Given the description of an element on the screen output the (x, y) to click on. 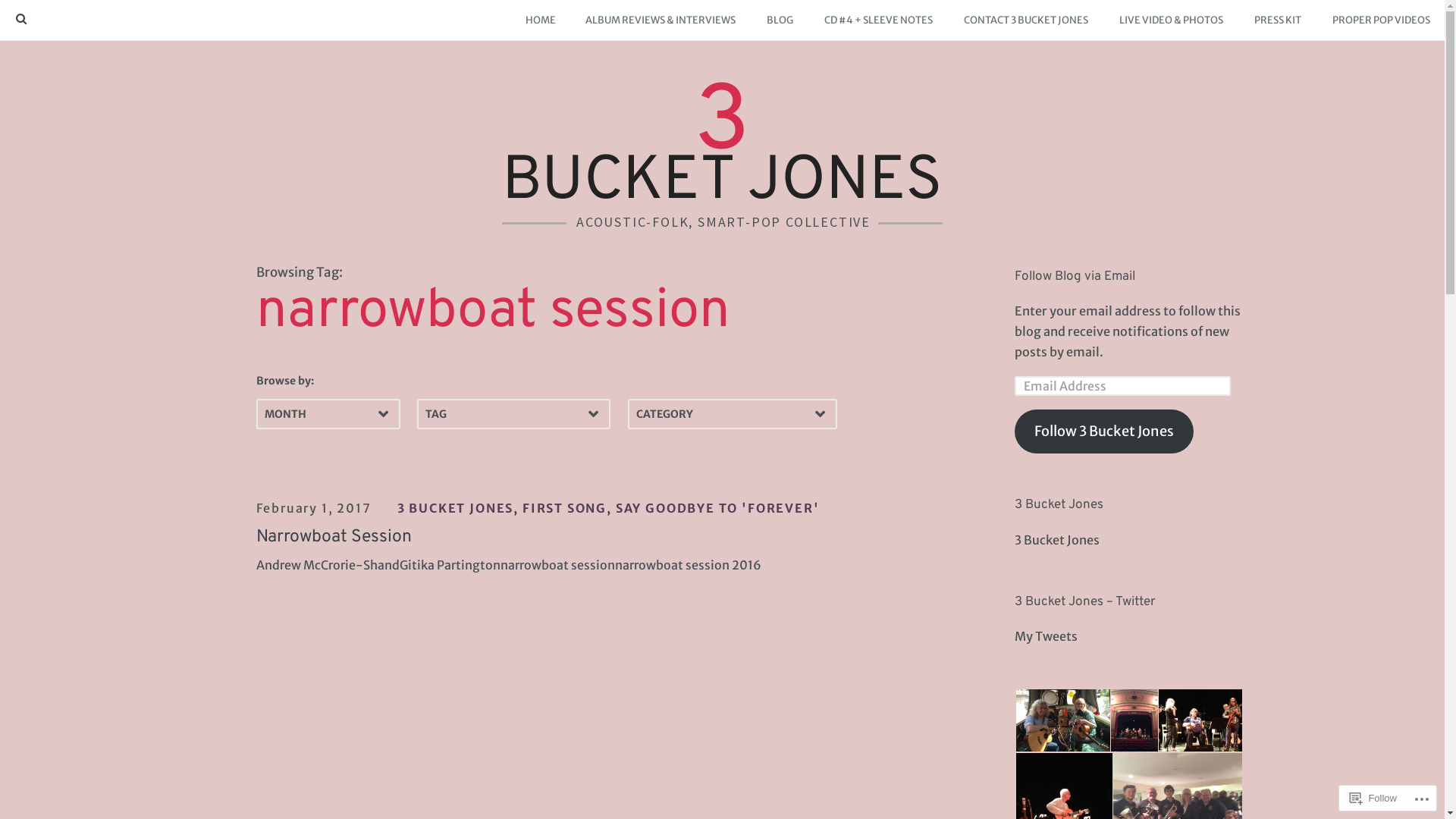
HOME Element type: text (540, 20)
3 BUCKET JONES Element type: text (455, 507)
SAY GOODBYE TO 'FOREVER' Element type: text (717, 507)
FIRST SONG Element type: text (564, 507)
Search Element type: text (31, 14)
ALBUM REVIEWS & INTERVIEWS Element type: text (659, 20)
BLOG Element type: text (779, 20)
IMG_8940 Element type: hover (1200, 720)
CD #4 + SLEEVE NOTES Element type: text (878, 20)
Narrowboat Session Element type: text (333, 537)
Follow Element type: text (1372, 797)
My Tweets Element type: text (1045, 635)
3 Bucket Jones Element type: text (1058, 504)
3 Bucket Jones Element type: text (1056, 539)
Follow 3 Bucket Jones Element type: text (1104, 431)
CONTACT 3 BUCKET JONES Element type: text (1025, 20)
PROPER POP VIDEOS Element type: text (1380, 20)
PRESS KIT Element type: text (1277, 20)
IMG_8513 Element type: hover (1063, 720)
UFEV3489 Element type: hover (1133, 720)
LIVE VIDEO & PHOTOS Element type: text (1170, 20)
February 1, 2017 Element type: text (313, 507)
3
BUCKET JONES Element type: text (722, 148)
